Given the description of an element on the screen output the (x, y) to click on. 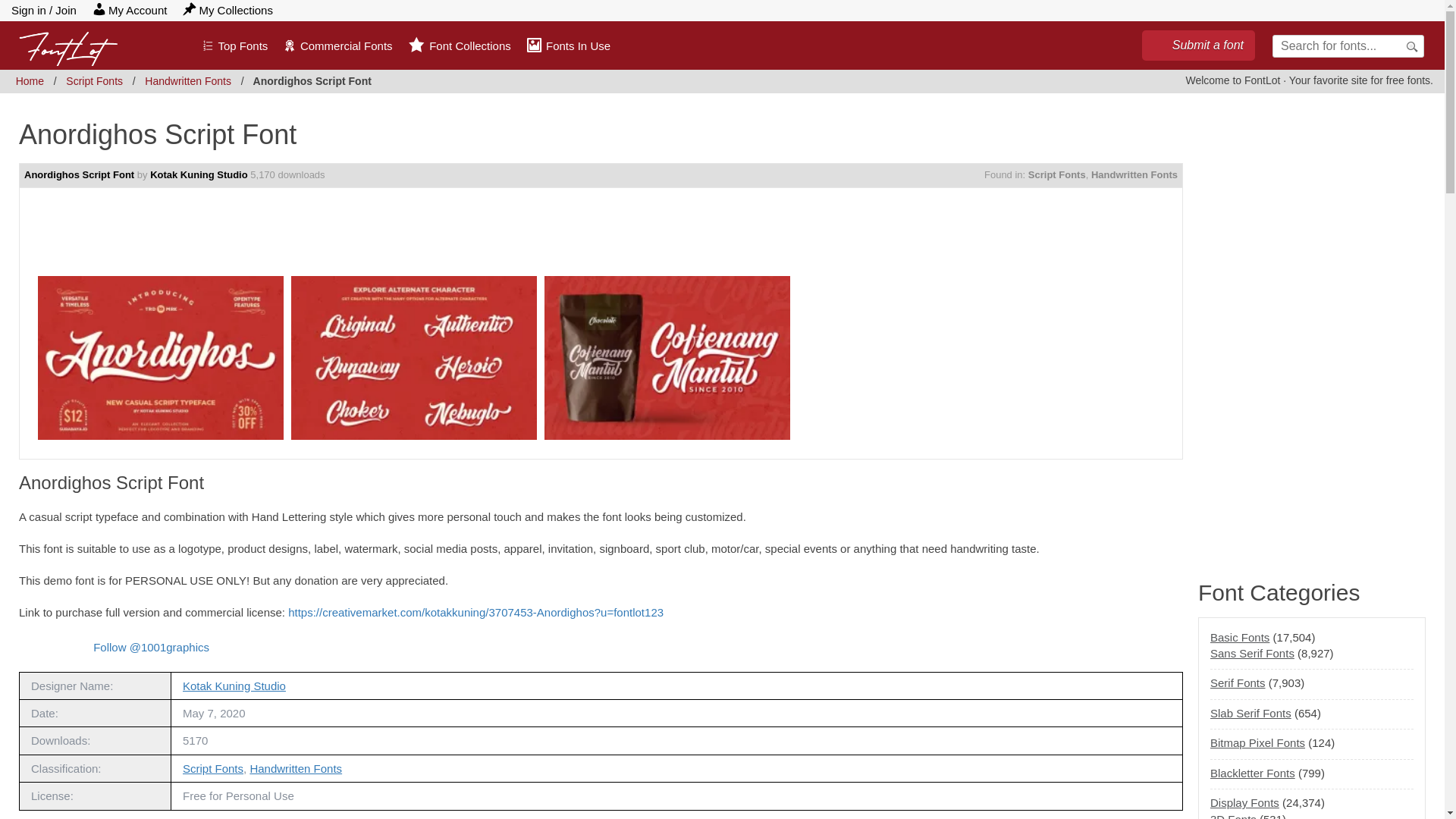
Anordighos Script Font (312, 80)
Submit a font (1198, 45)
Kotak Kuning Studio (234, 685)
Anordighos Script Font (159, 357)
Anordighos Script Font (413, 357)
Kotak Kuning Studio (198, 174)
My Collections (227, 10)
Handwritten Fonts (1133, 174)
Anordighos Script Font (78, 174)
Anordighos Script Font (346, 245)
